Given the description of an element on the screen output the (x, y) to click on. 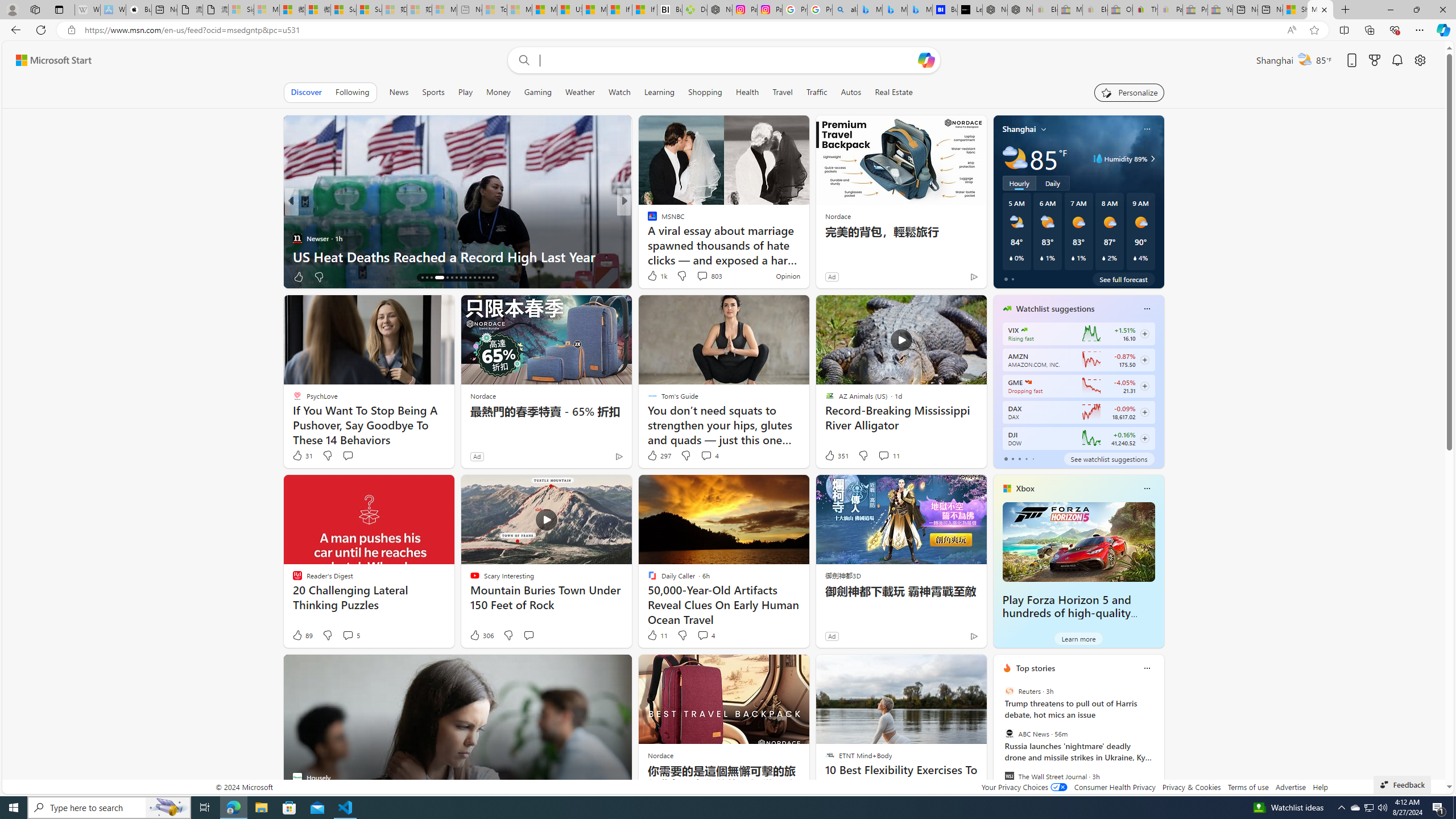
142 Like (654, 276)
View comments 41 Comment (698, 276)
1k Like (656, 275)
